Given the description of an element on the screen output the (x, y) to click on. 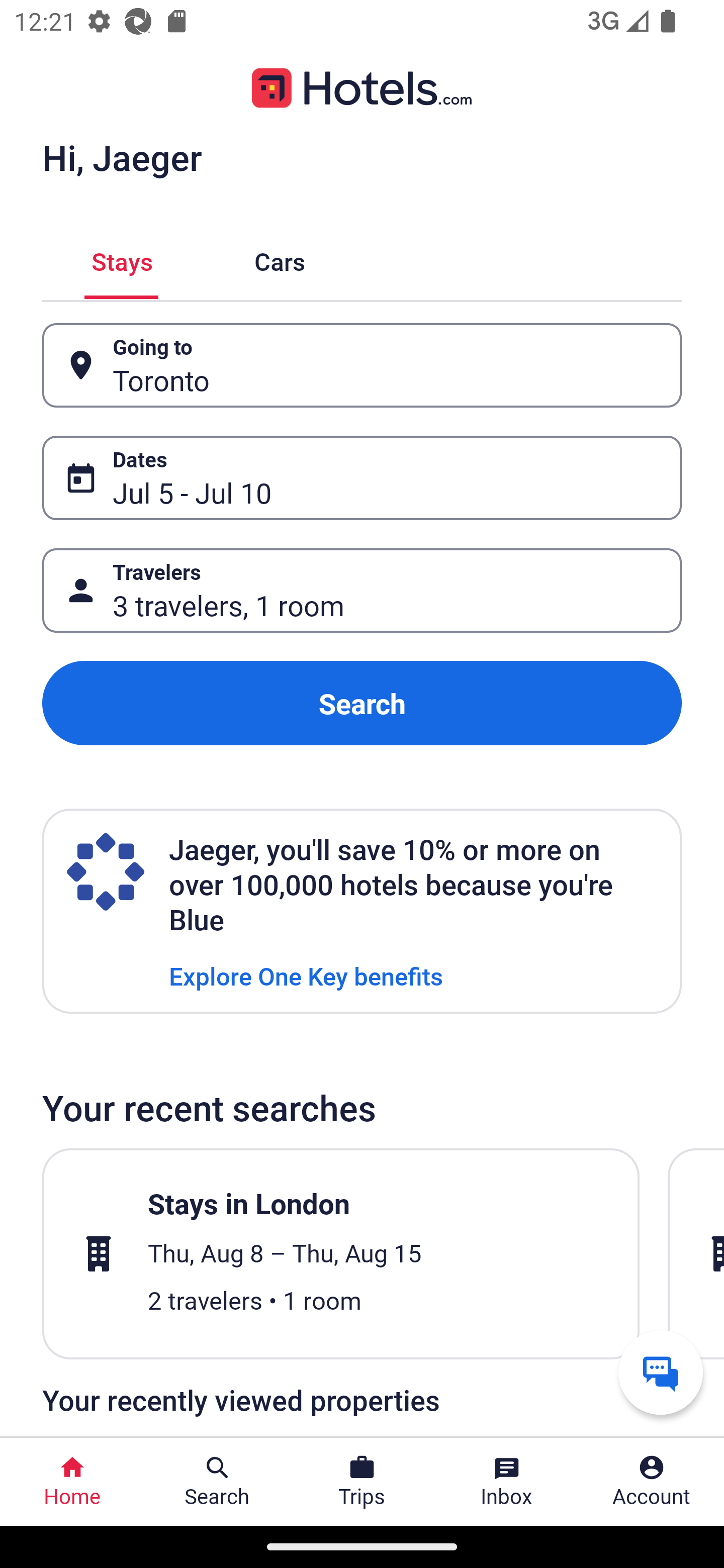
Hi, Jaeger (121, 156)
Cars (279, 259)
Going to Button Toronto (361, 365)
Dates Button Jul 5 - Jul 10 (361, 477)
Travelers Button 3 travelers, 1 room (361, 590)
Search (361, 702)
Get help from a virtual agent (660, 1371)
Search Search Button (216, 1481)
Trips Trips Button (361, 1481)
Inbox Inbox Button (506, 1481)
Account Profile. Button (651, 1481)
